Given the description of an element on the screen output the (x, y) to click on. 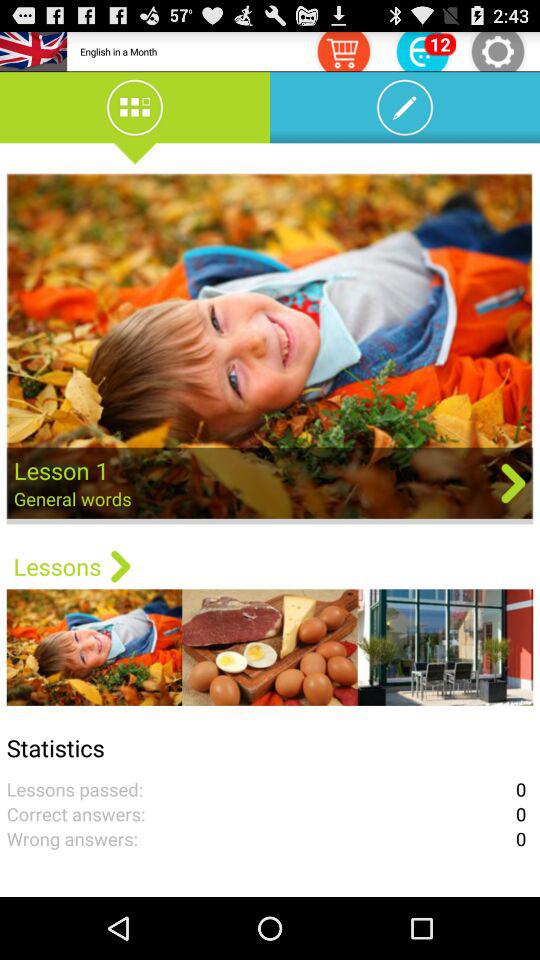
level button (423, 50)
